Given the description of an element on the screen output the (x, y) to click on. 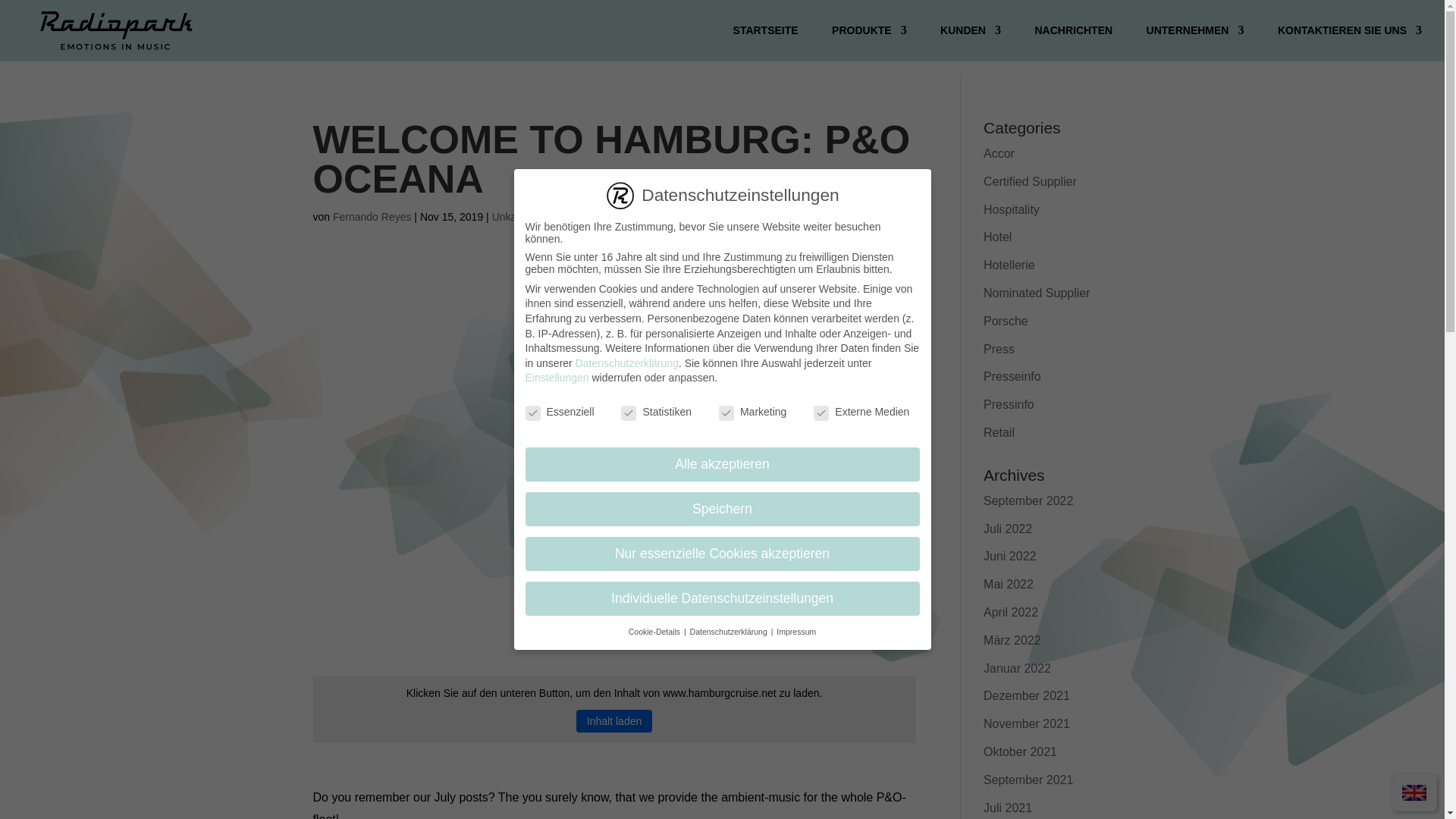
KUNDEN (970, 42)
PRODUKTE (869, 42)
STARTSEITE (765, 42)
UNTERNEHMEN (1195, 42)
KONTAKTIEREN SIE UNS (1350, 42)
NACHRICHTEN (1072, 42)
